Given the description of an element on the screen output the (x, y) to click on. 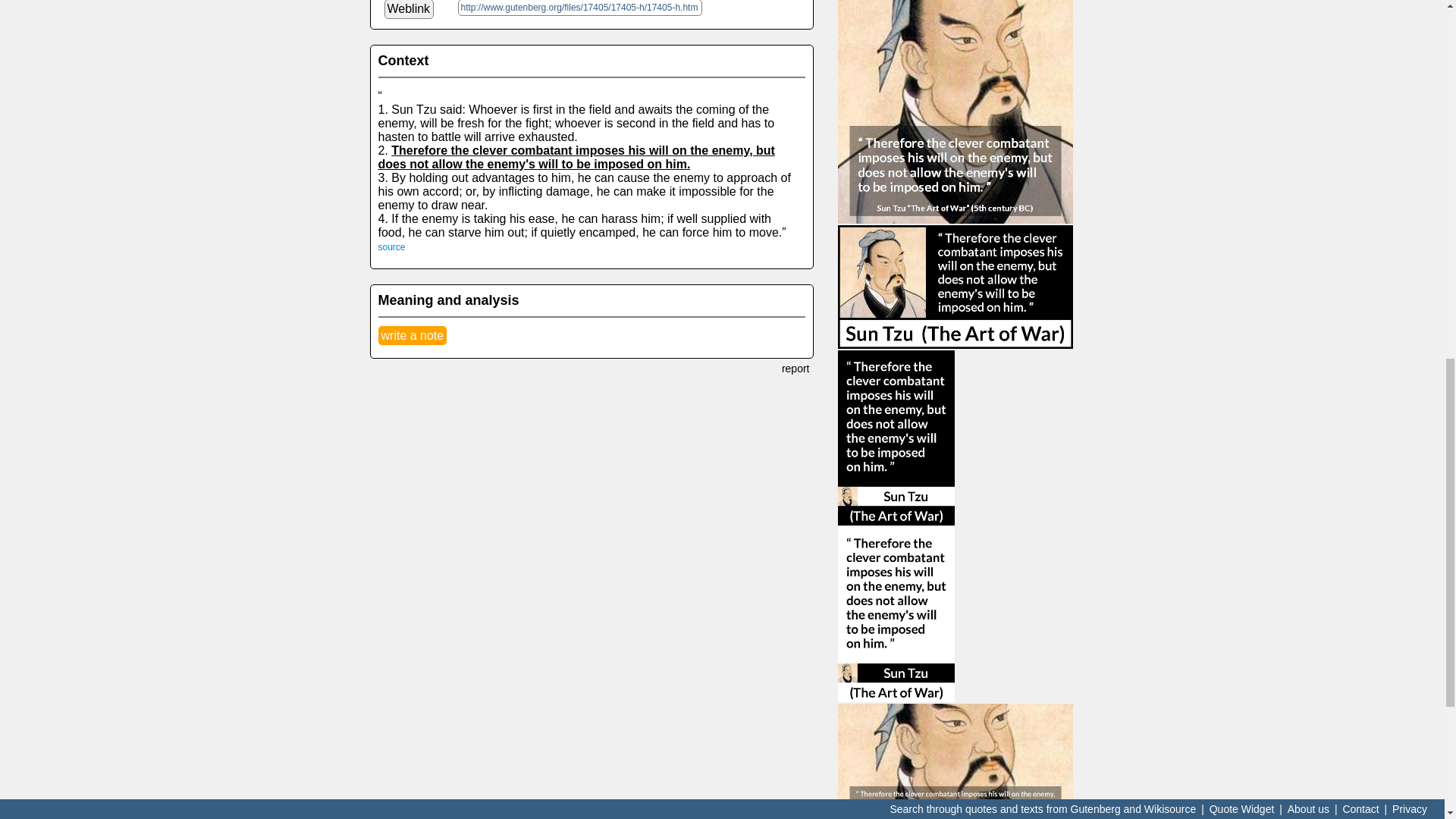
Sun Tzu quote about enemies from The Art of War (955, 286)
source (390, 246)
Sun Tzu quote about enemies from The Art of War (955, 761)
write a note (411, 334)
Sun Tzu quote about enemies from The Art of War (955, 111)
